Given the description of an element on the screen output the (x, y) to click on. 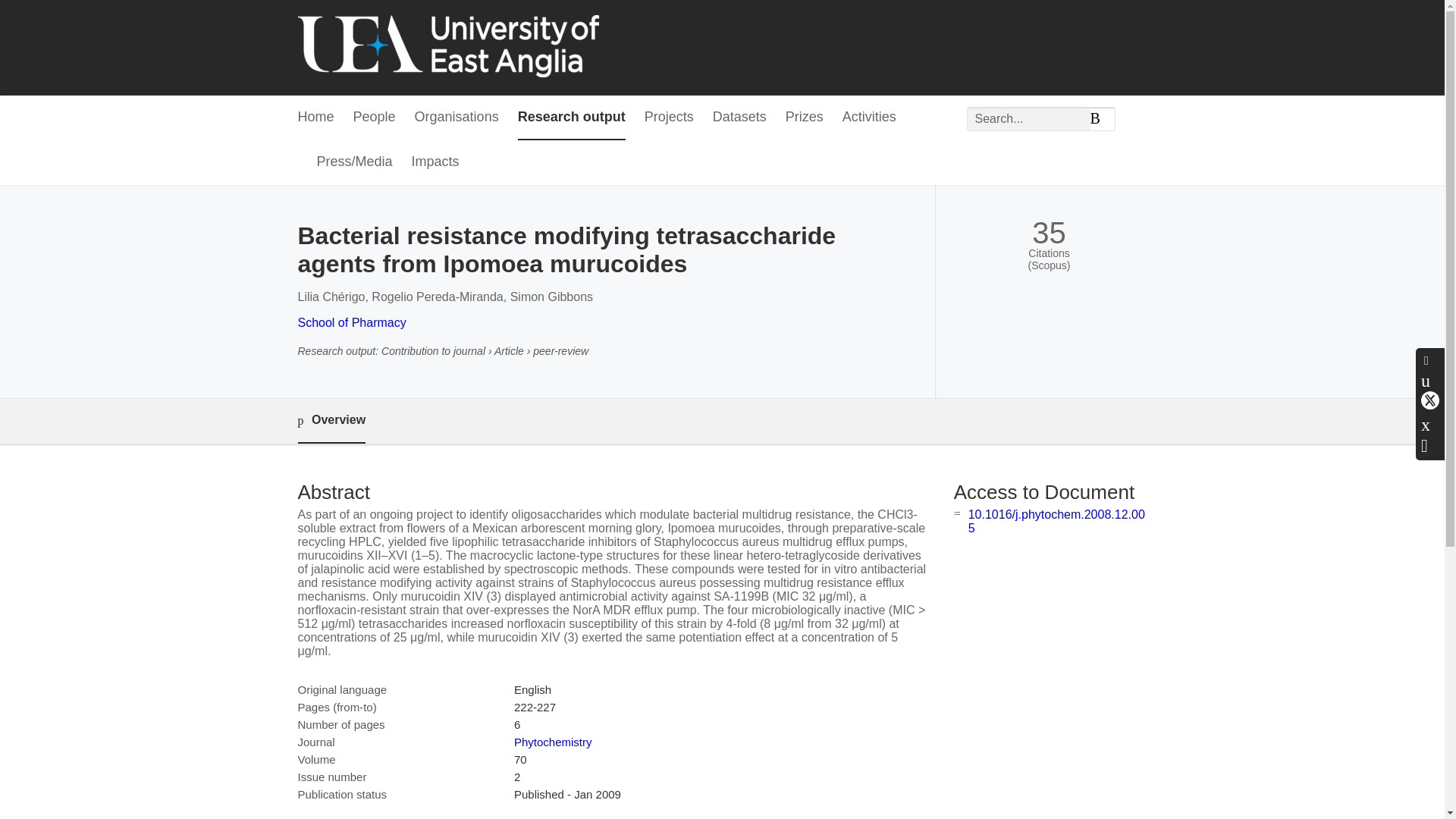
Prizes (805, 117)
Impacts (436, 162)
Activities (869, 117)
Overview (331, 420)
School of Pharmacy (351, 322)
Organisations (456, 117)
Research output (572, 117)
Phytochemistry (552, 741)
University of East Anglia Home (447, 47)
Projects (669, 117)
Datasets (740, 117)
Home (315, 117)
People (374, 117)
